Given the description of an element on the screen output the (x, y) to click on. 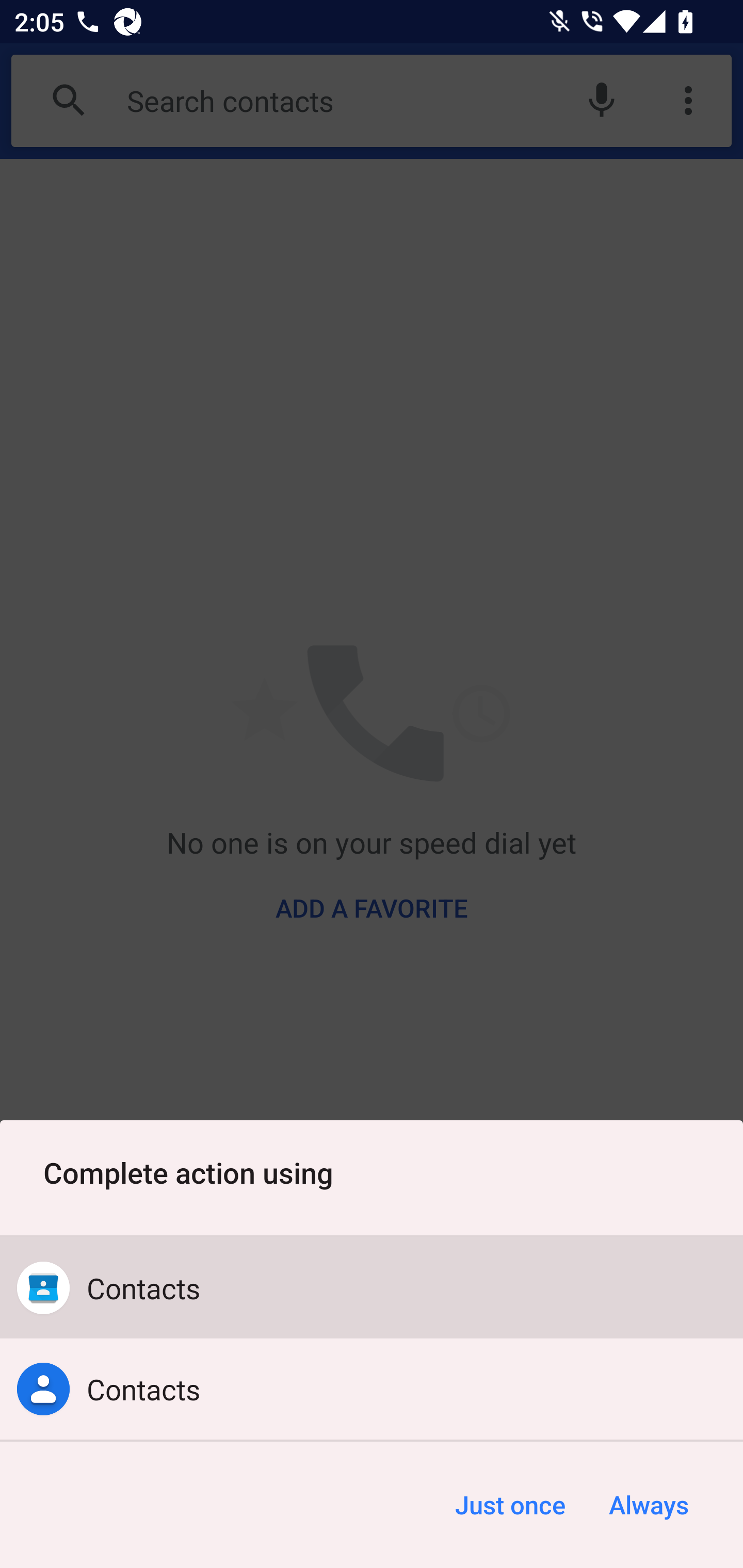
Contacts (371, 1288)
Contacts (371, 1389)
Just once (509, 1504)
Always (648, 1504)
